Given the description of an element on the screen output the (x, y) to click on. 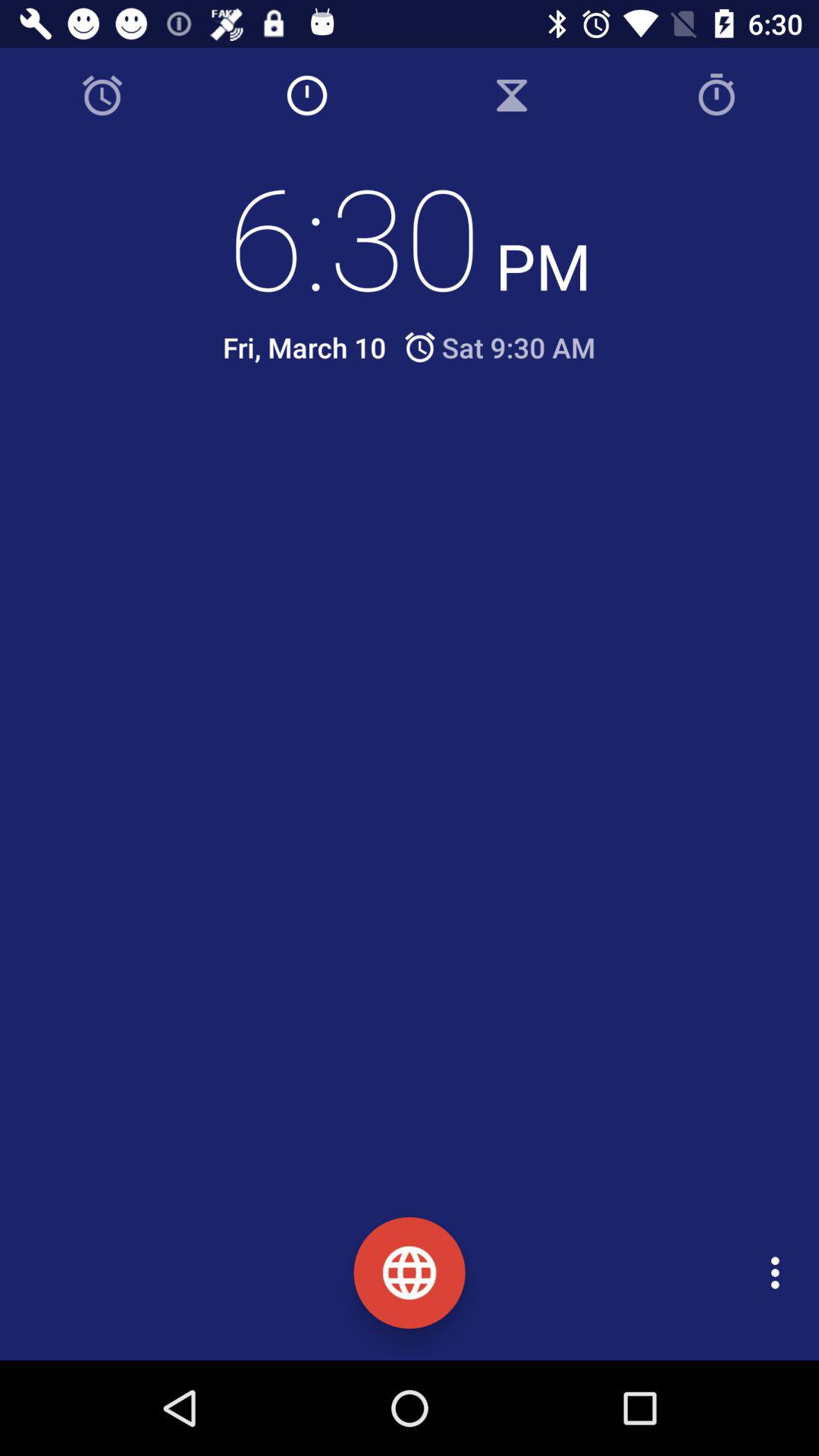
choose the item next to the fri, march 10 (498, 347)
